Given the description of an element on the screen output the (x, y) to click on. 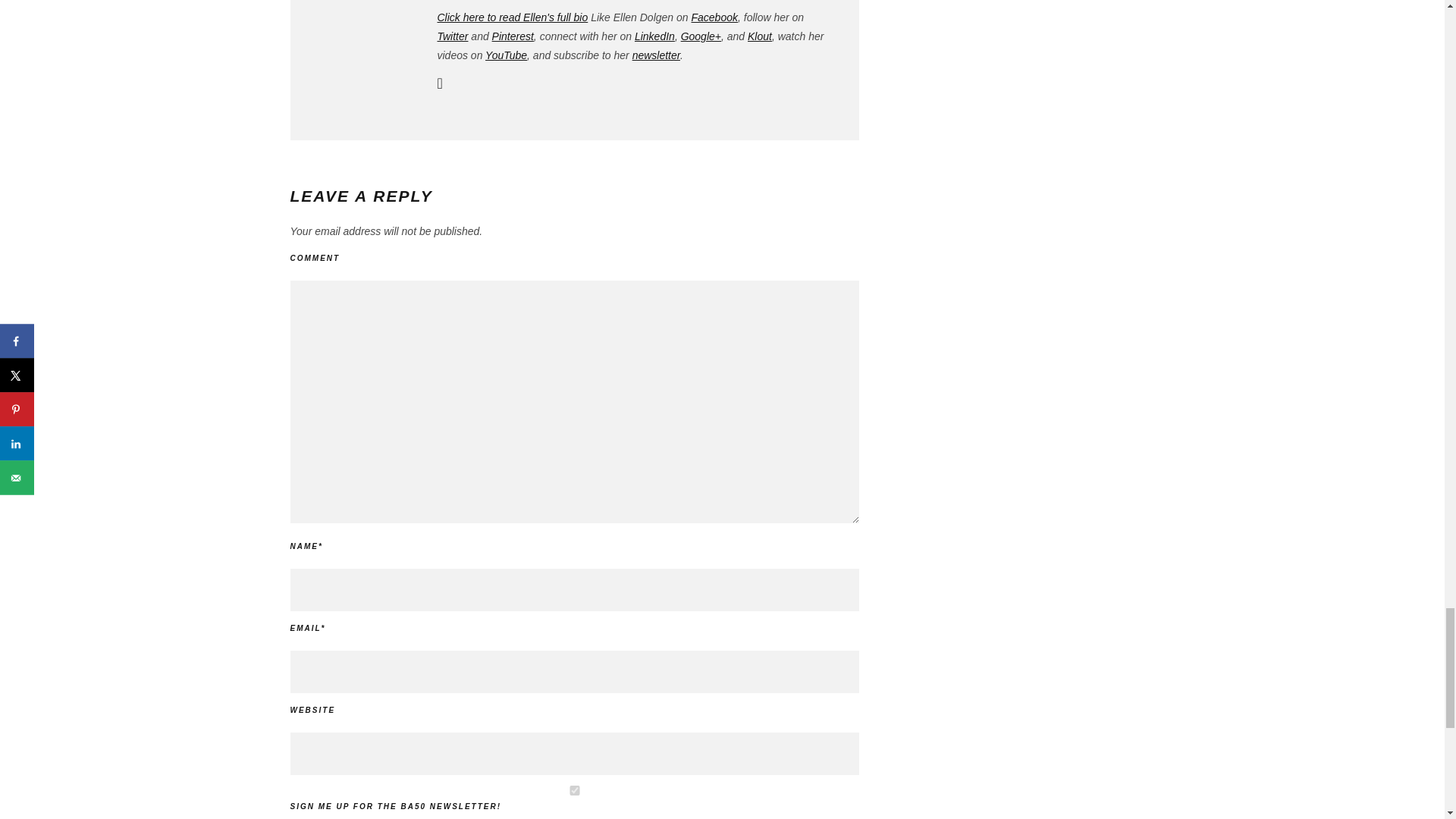
1 (574, 790)
